Given the description of an element on the screen output the (x, y) to click on. 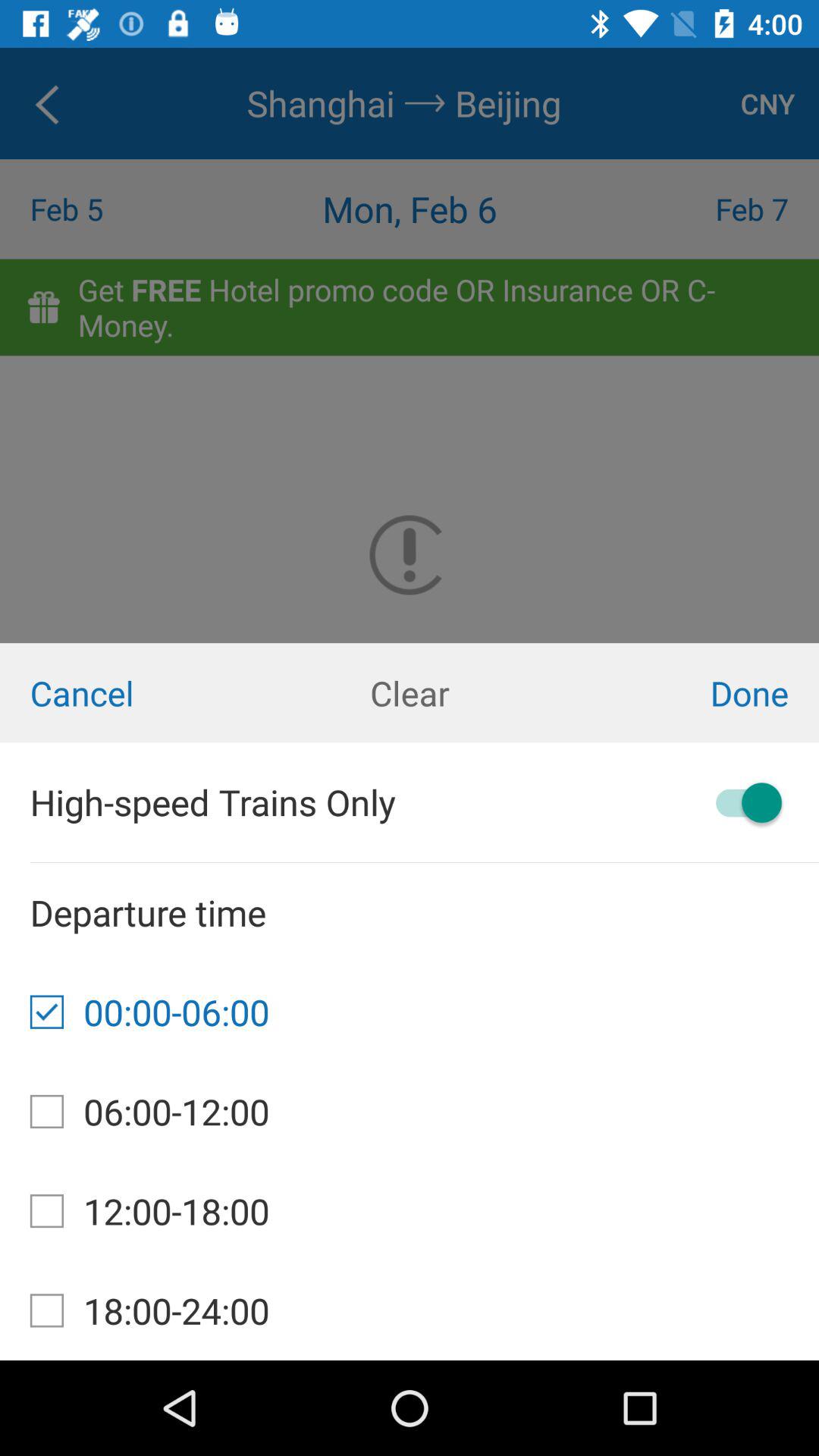
open the icon to the left of the clear (136, 692)
